Given the description of an element on the screen output the (x, y) to click on. 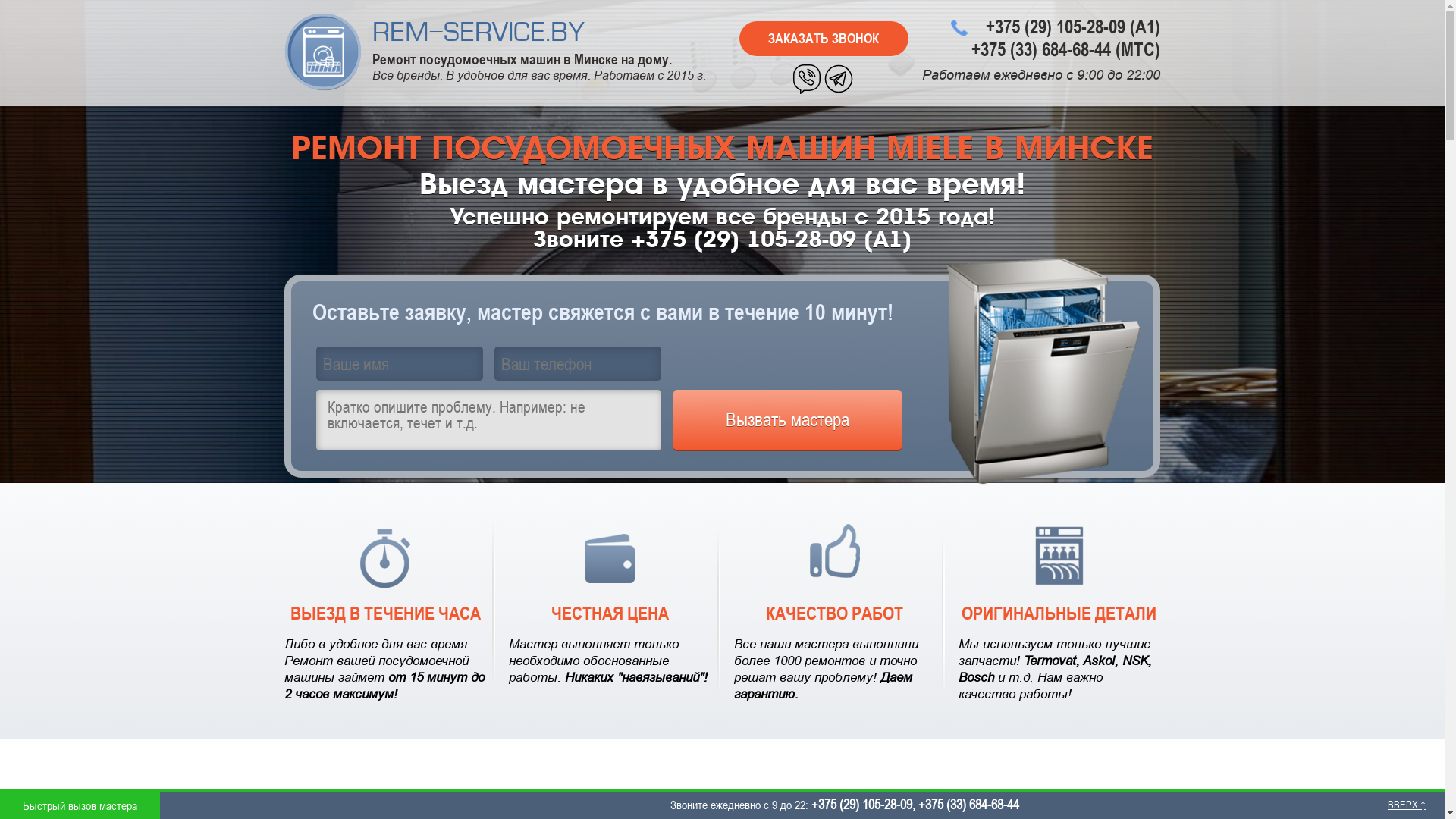
+375 (29) 105-28-09 Element type: text (861, 804)
+375 (33) 684-68-44 Element type: text (1040, 48)
+375 (29) 105-28-09 Element type: text (1055, 26)
+375 (33) 684-68-44 Element type: text (968, 804)
